Given the description of an element on the screen output the (x, y) to click on. 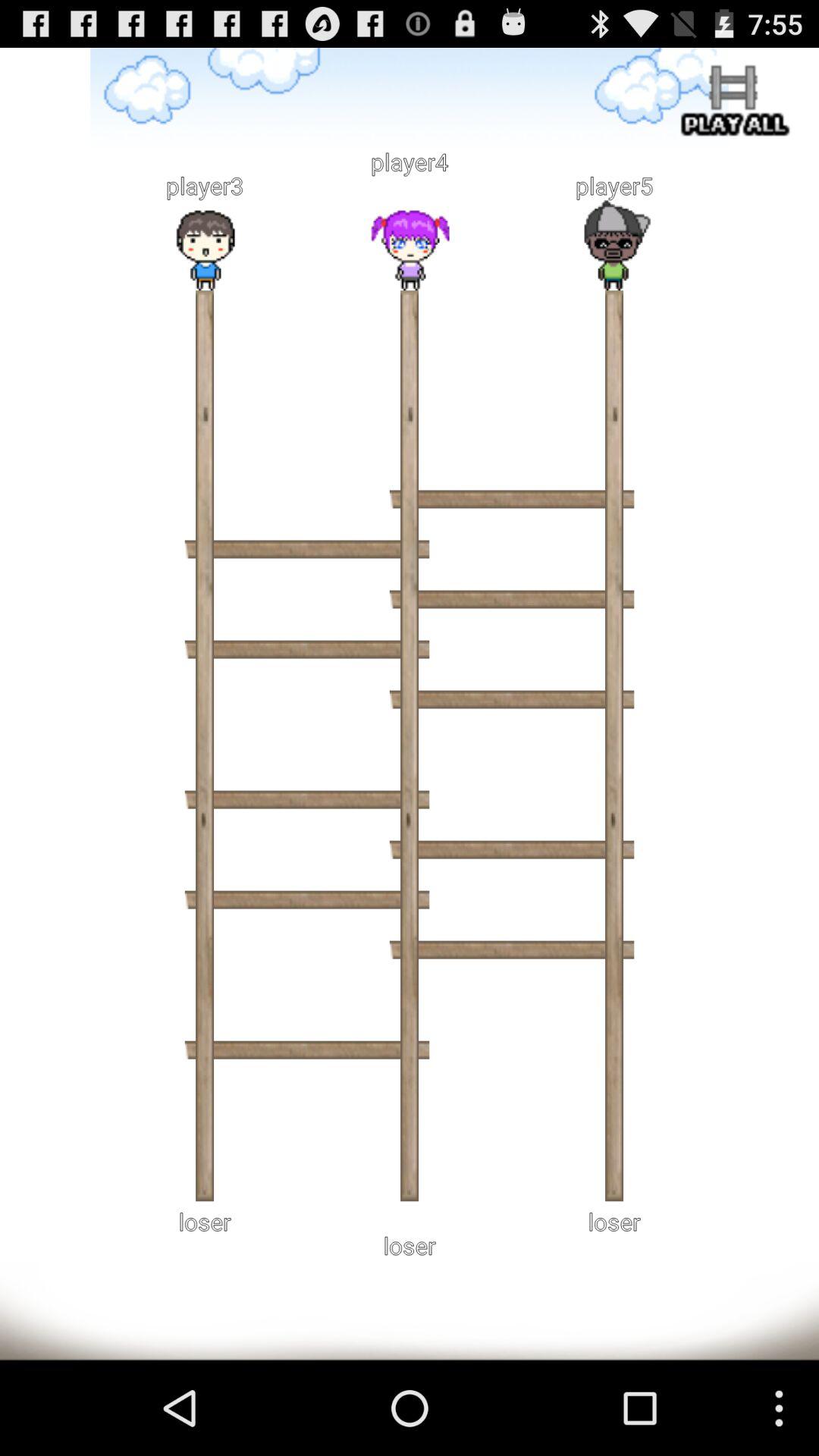
play all (732, 103)
